Given the description of an element on the screen output the (x, y) to click on. 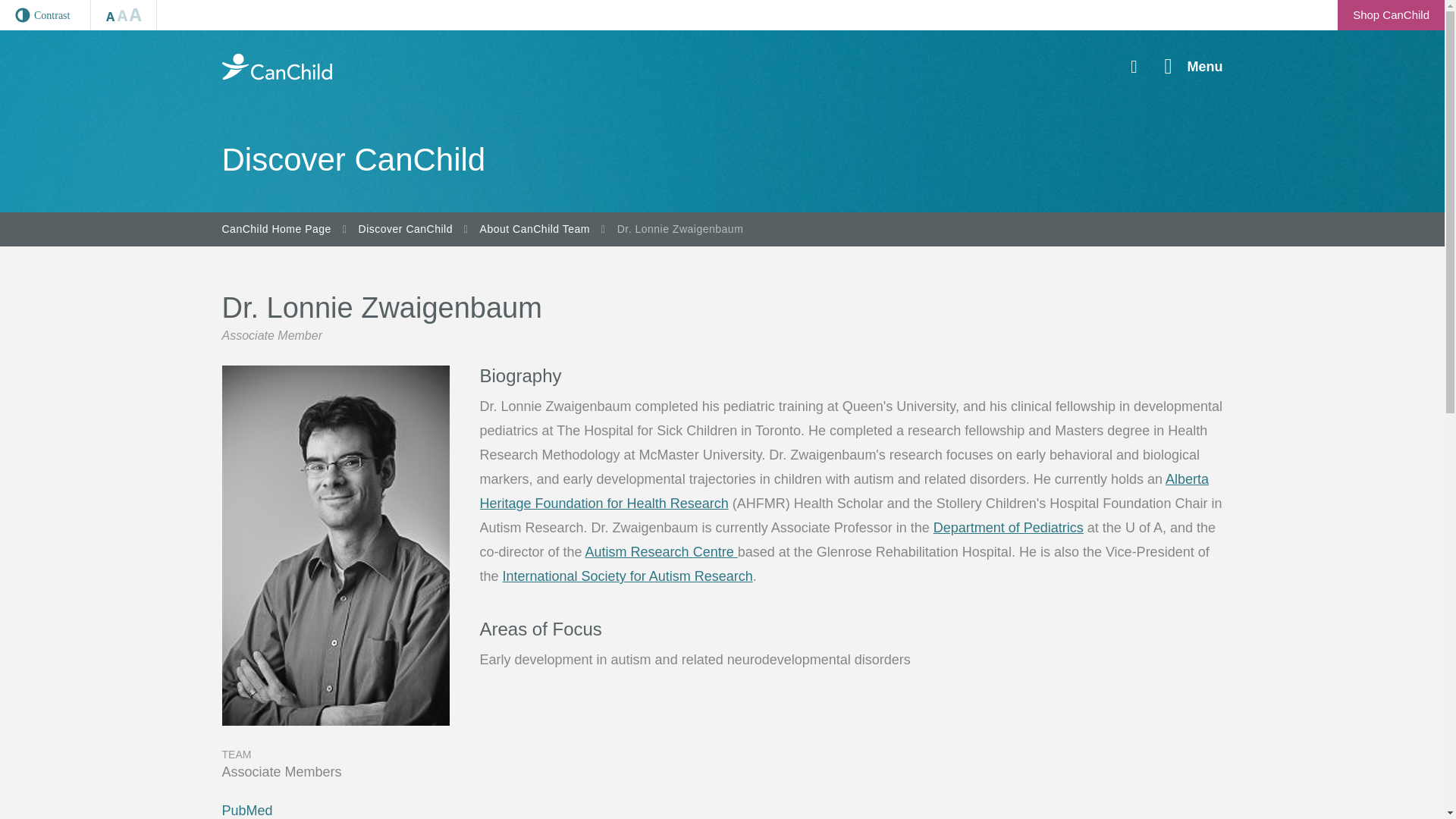
Menu (1193, 66)
CanChild (276, 66)
Font Size (123, 15)
Change Contrast (45, 15)
